Given the description of an element on the screen output the (x, y) to click on. 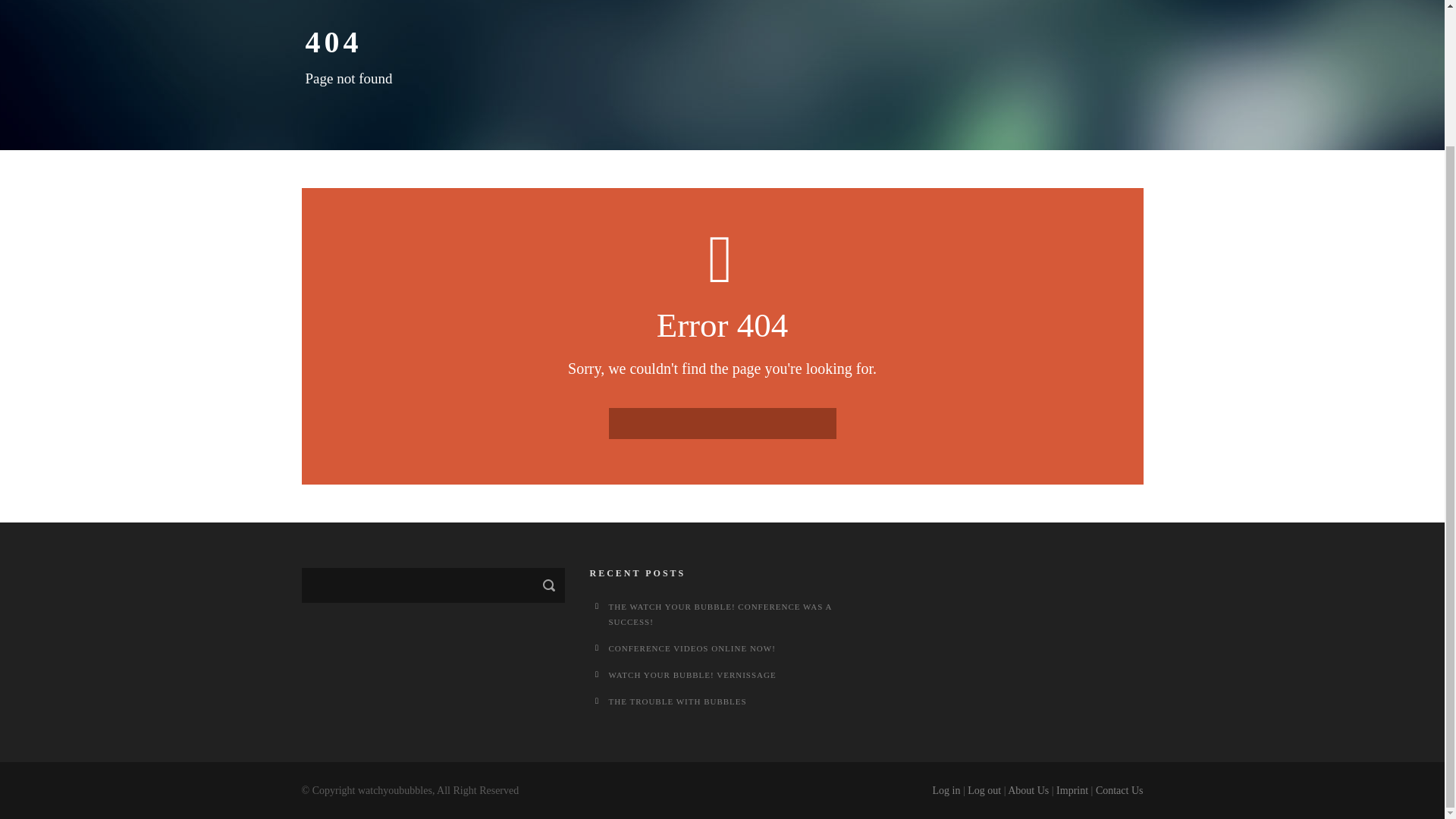
Log in (945, 790)
WATCH YOUR BUBBLE! VERNISSAGE (692, 674)
THE TROUBLE WITH BUBBLES (676, 700)
THE WATCH YOUR BUBBLE! CONFERENCE WAS A SUCCESS! (719, 613)
CONFERENCE VIDEOS ONLINE NOW! (691, 647)
